Given the description of an element on the screen output the (x, y) to click on. 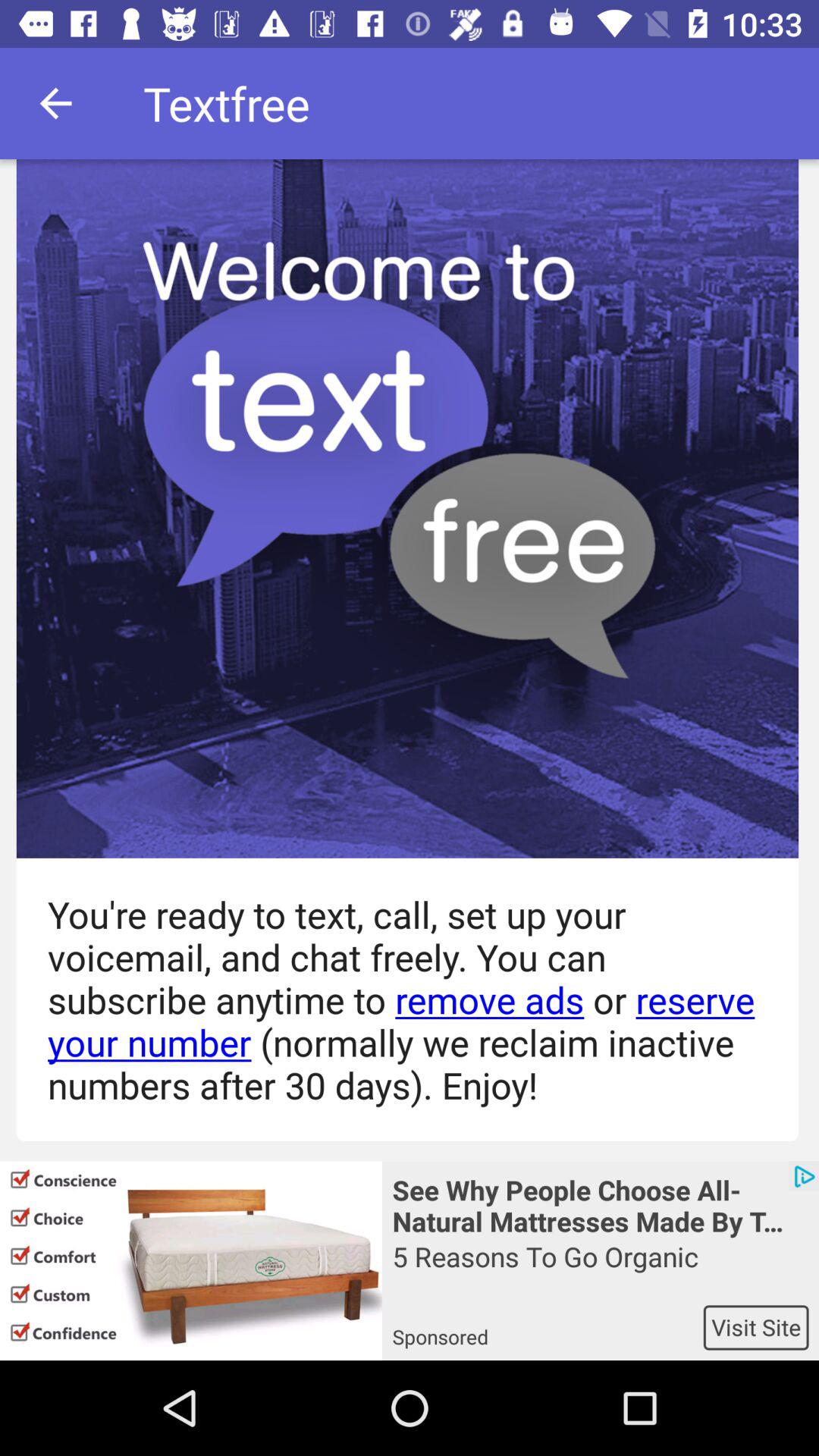
swipe until sponsored item (547, 1327)
